Given the description of an element on the screen output the (x, y) to click on. 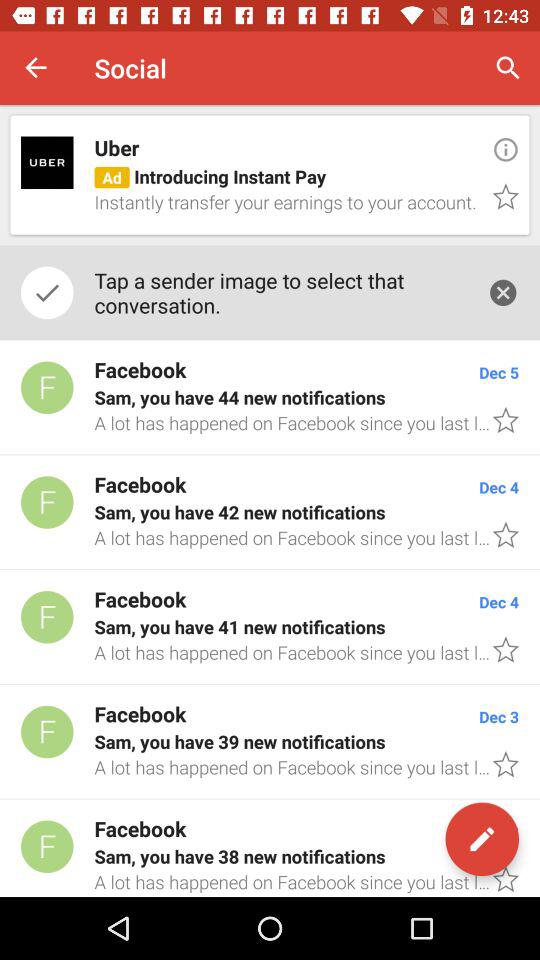
press the icon to the right of ad introducing instant (505, 149)
